Given the description of an element on the screen output the (x, y) to click on. 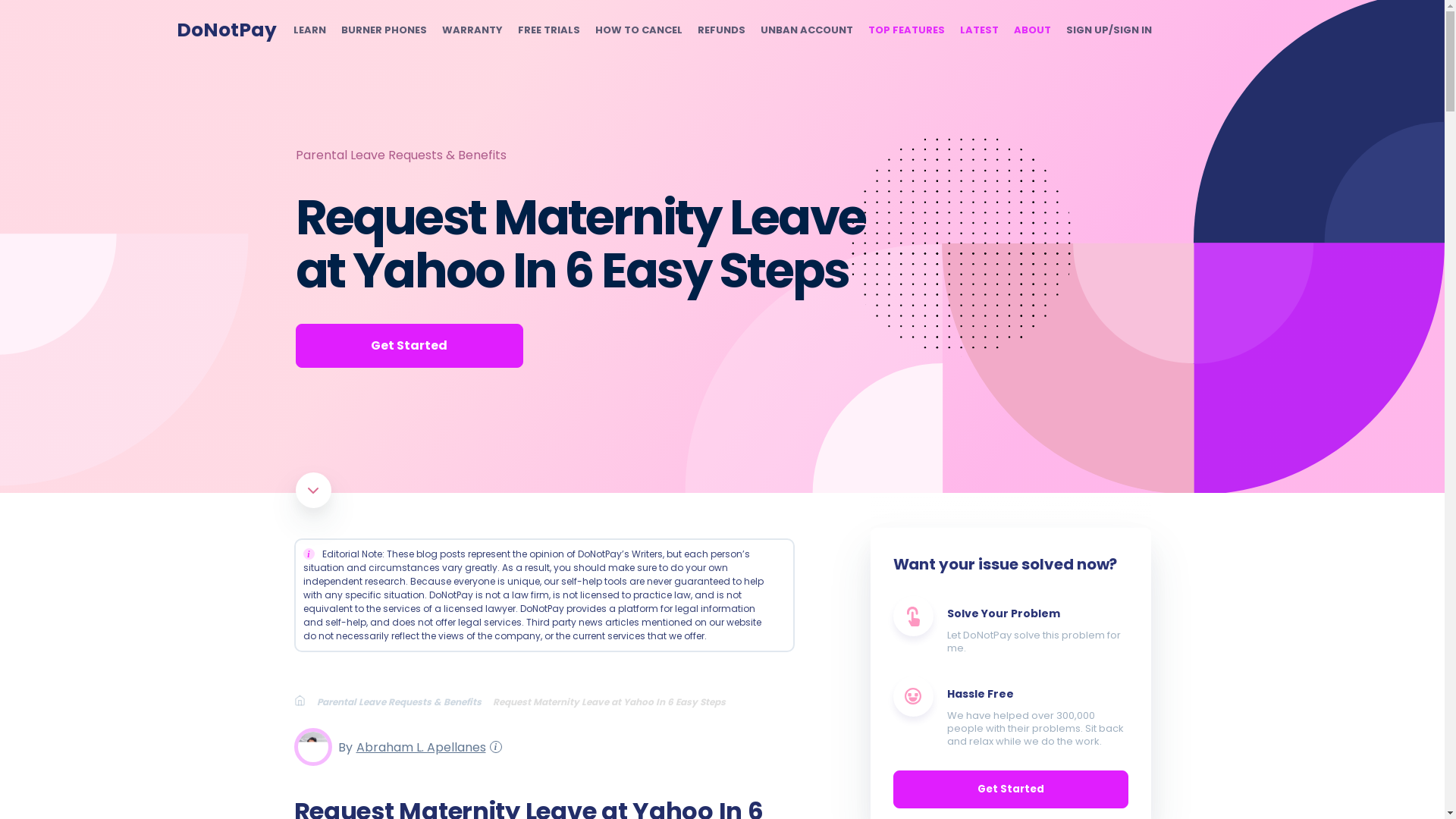
UNBAN ACCOUNT (805, 29)
LATEST (978, 29)
TOP FEATURES (905, 29)
Get Started (408, 345)
BURNER PHONES (383, 29)
Abraham L. Apellanes (418, 746)
WARRANTY (471, 29)
ABOUT (1031, 29)
FREE TRIALS (547, 29)
REFUNDS (721, 29)
